Given the description of an element on the screen output the (x, y) to click on. 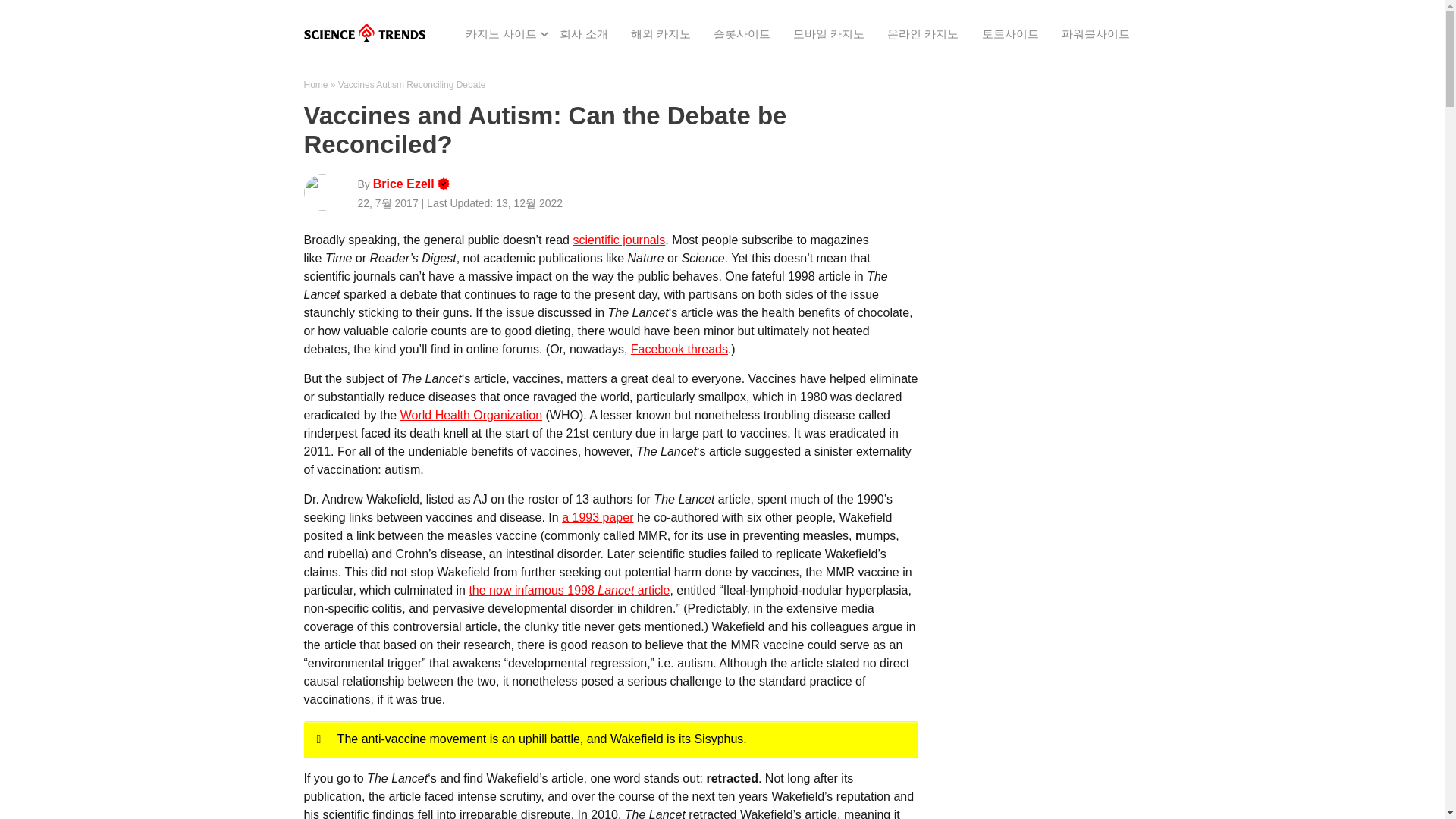
World Health Organization (470, 414)
Brice Ezell (402, 185)
scientific journals (618, 239)
Facebook threads (679, 349)
Home (314, 84)
